Given the description of an element on the screen output the (x, y) to click on. 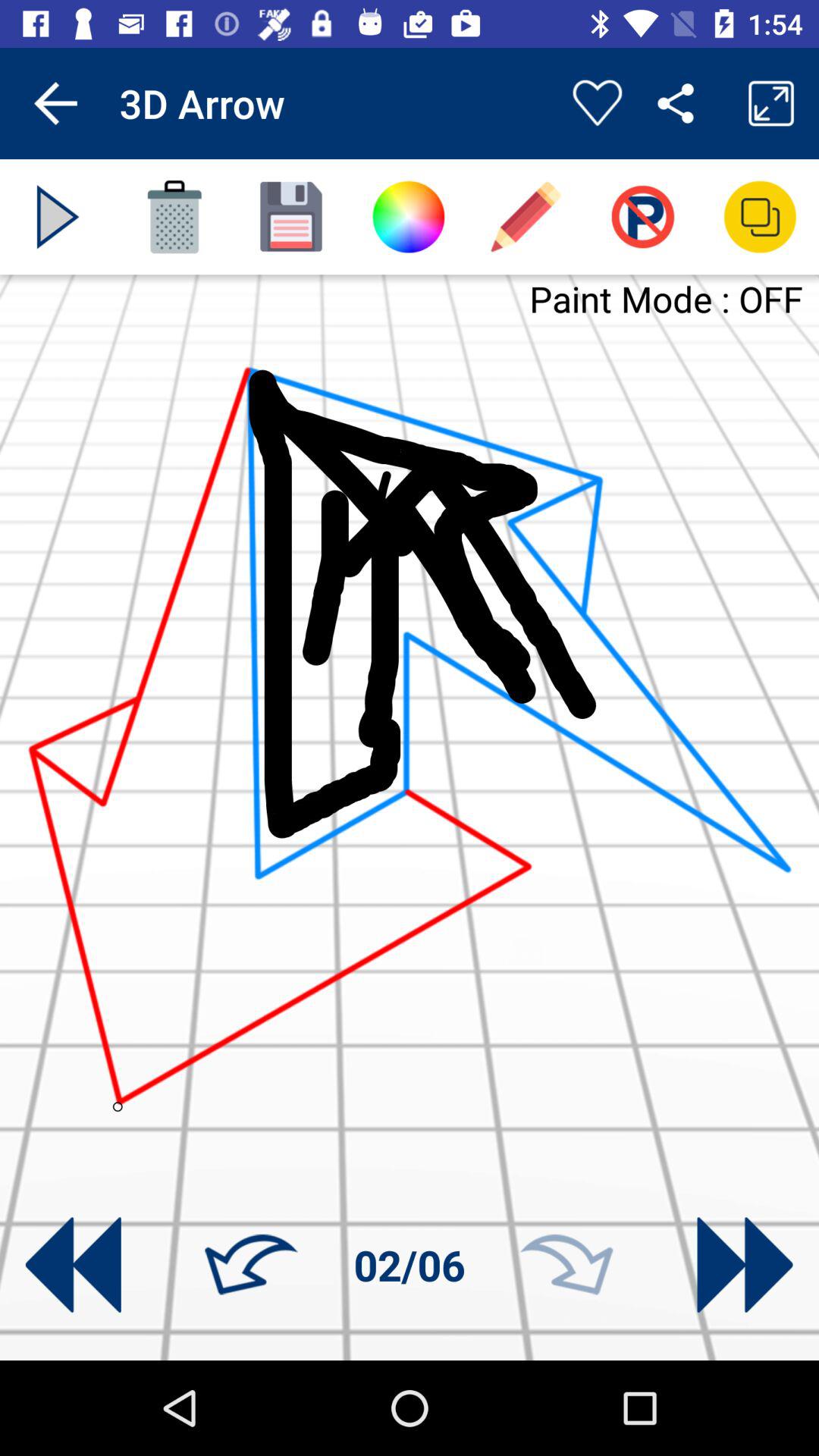
create animation (58, 216)
